Given the description of an element on the screen output the (x, y) to click on. 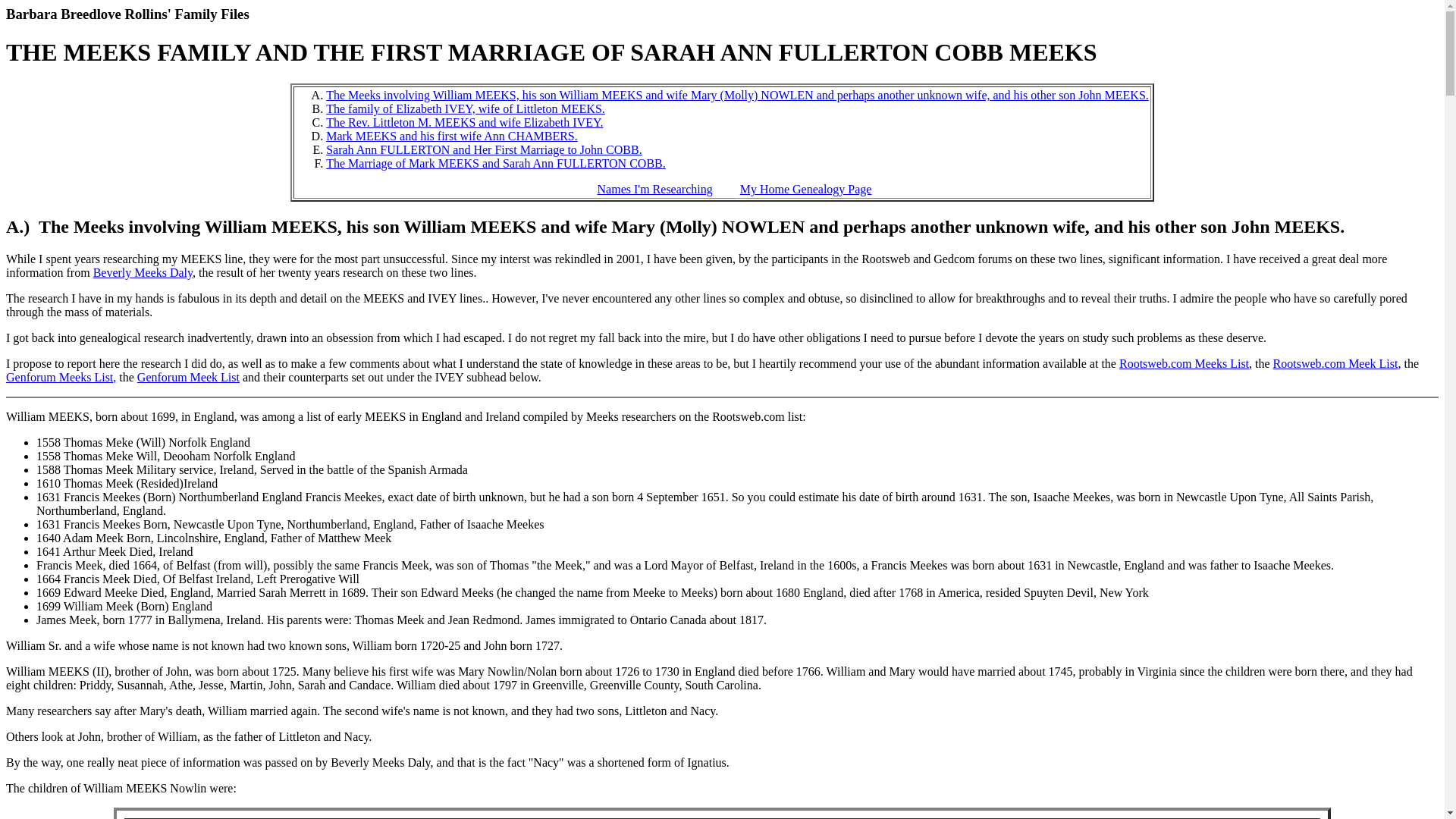
Genforum Meeks List, (60, 377)
My Home Genealogy Page (805, 188)
The family of Elizabeth IVEY, wife of Littleton MEEKS. (465, 108)
Names I'm Researching (654, 188)
Rootsweb.com Meeks List (1184, 363)
Rootsweb.com Meek List (1334, 363)
Sarah Ann FULLERTON and Her First Marriage to John COBB. (484, 149)
The Rev. Littleton M. MEEKS and wife Elizabeth IVEY. (464, 122)
The Marriage of Mark MEEKS and Sarah Ann FULLERTON COBB. (495, 163)
Mark MEEKS and his first wife Ann CHAMBERS. (452, 135)
Beverly Meeks Daly (142, 272)
Genforum Meek List (188, 377)
